Given the description of an element on the screen output the (x, y) to click on. 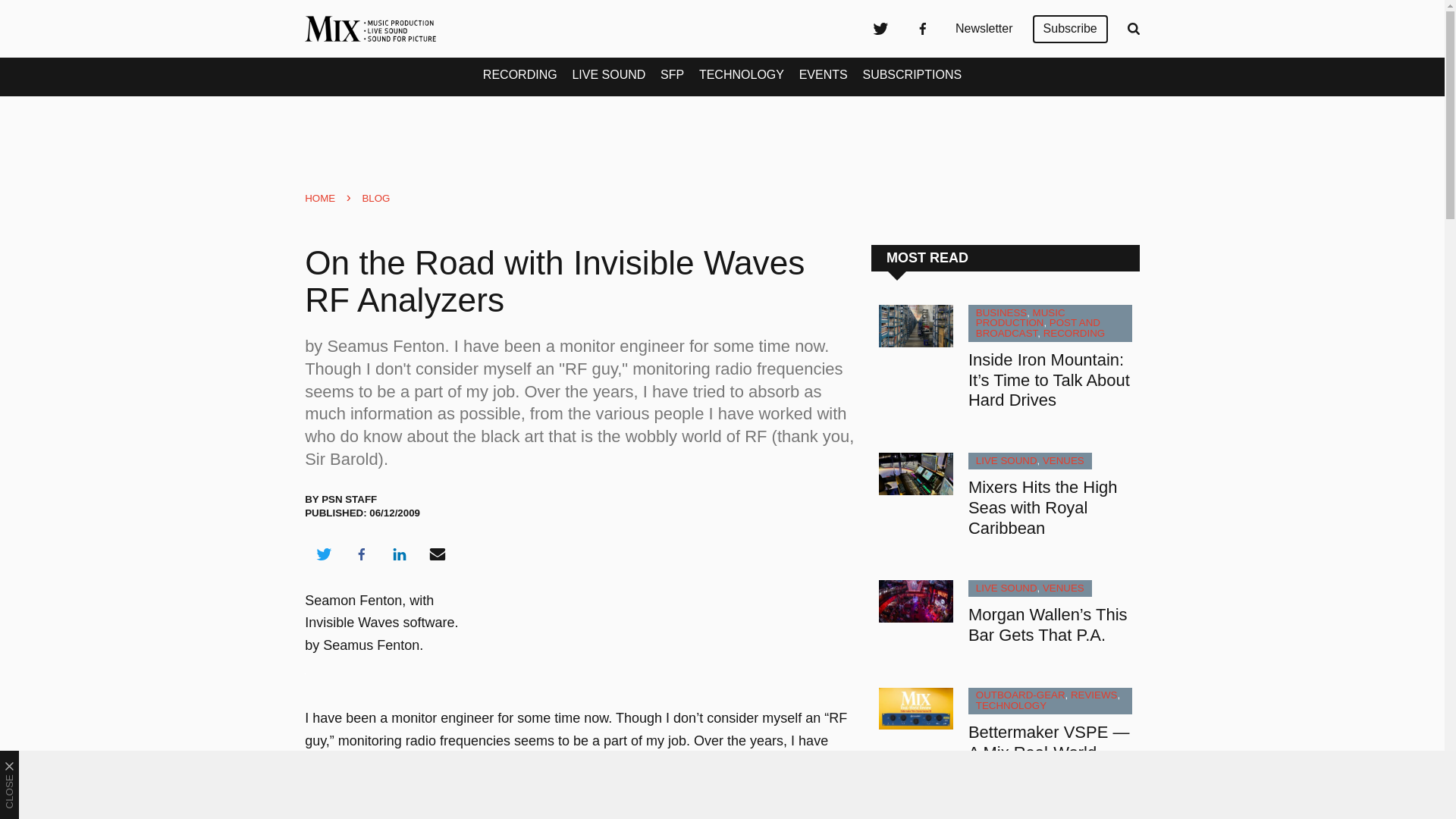
Share on Facebook (361, 554)
Share on LinkedIn (399, 554)
Share via Email (438, 554)
Share on Twitter (323, 554)
